Given the description of an element on the screen output the (x, y) to click on. 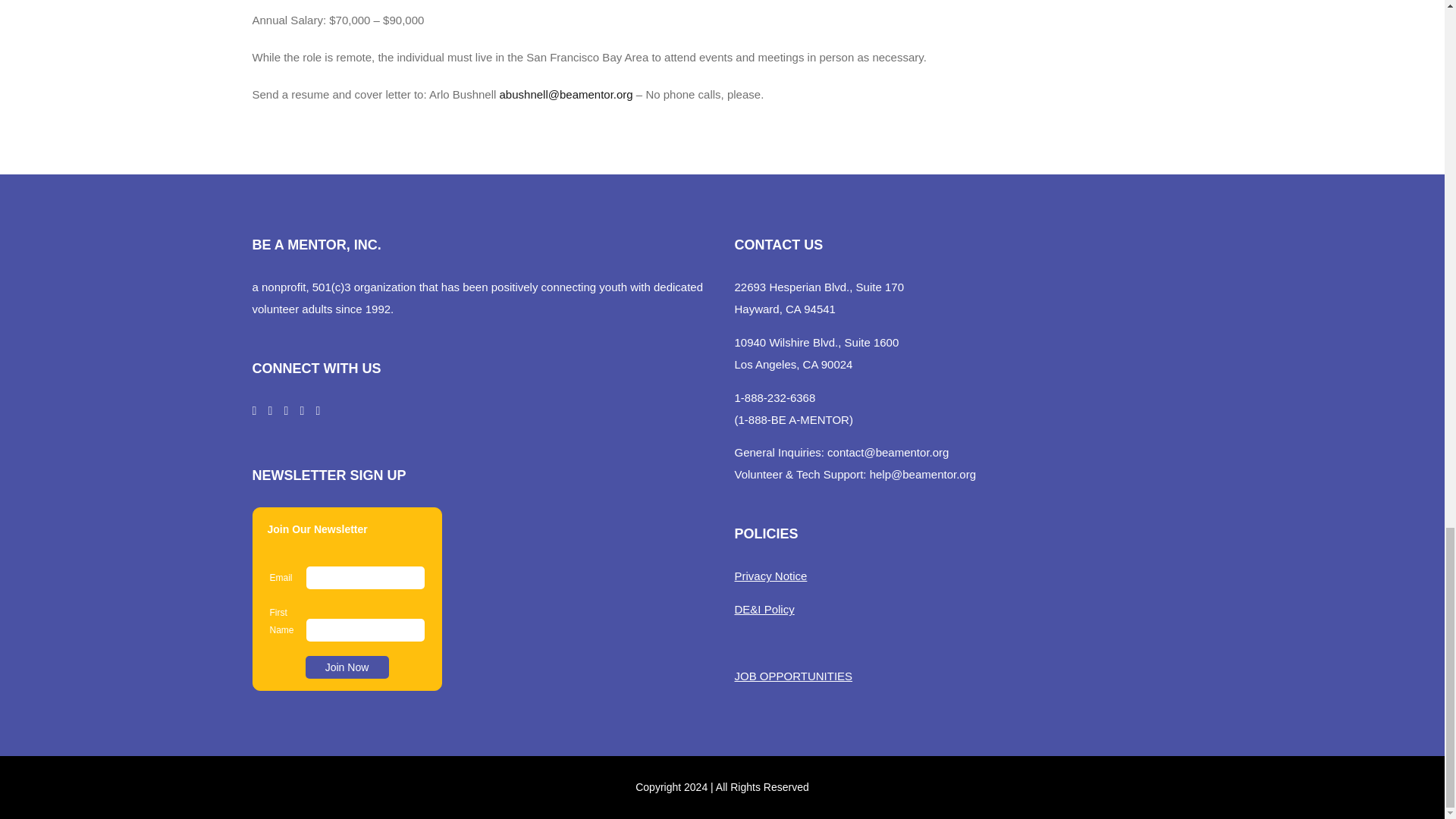
Privacy Notice (769, 575)
JOB OPPORTUNITIES (792, 675)
Join Now (346, 667)
